Given the description of an element on the screen output the (x, y) to click on. 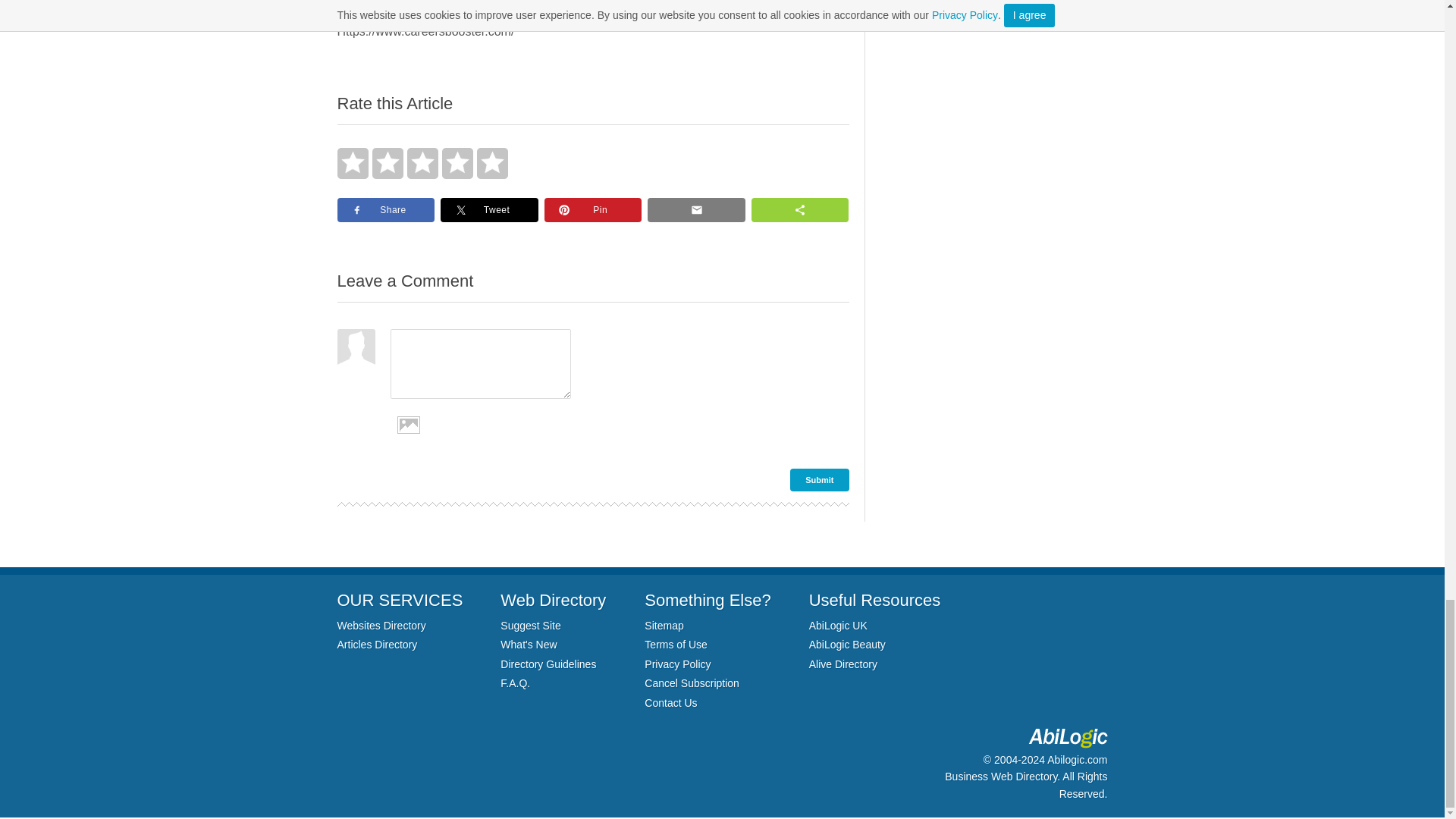
Submit (819, 479)
Submit (819, 479)
Articles Directory (376, 644)
Websites Directory (380, 625)
